Given the description of an element on the screen output the (x, y) to click on. 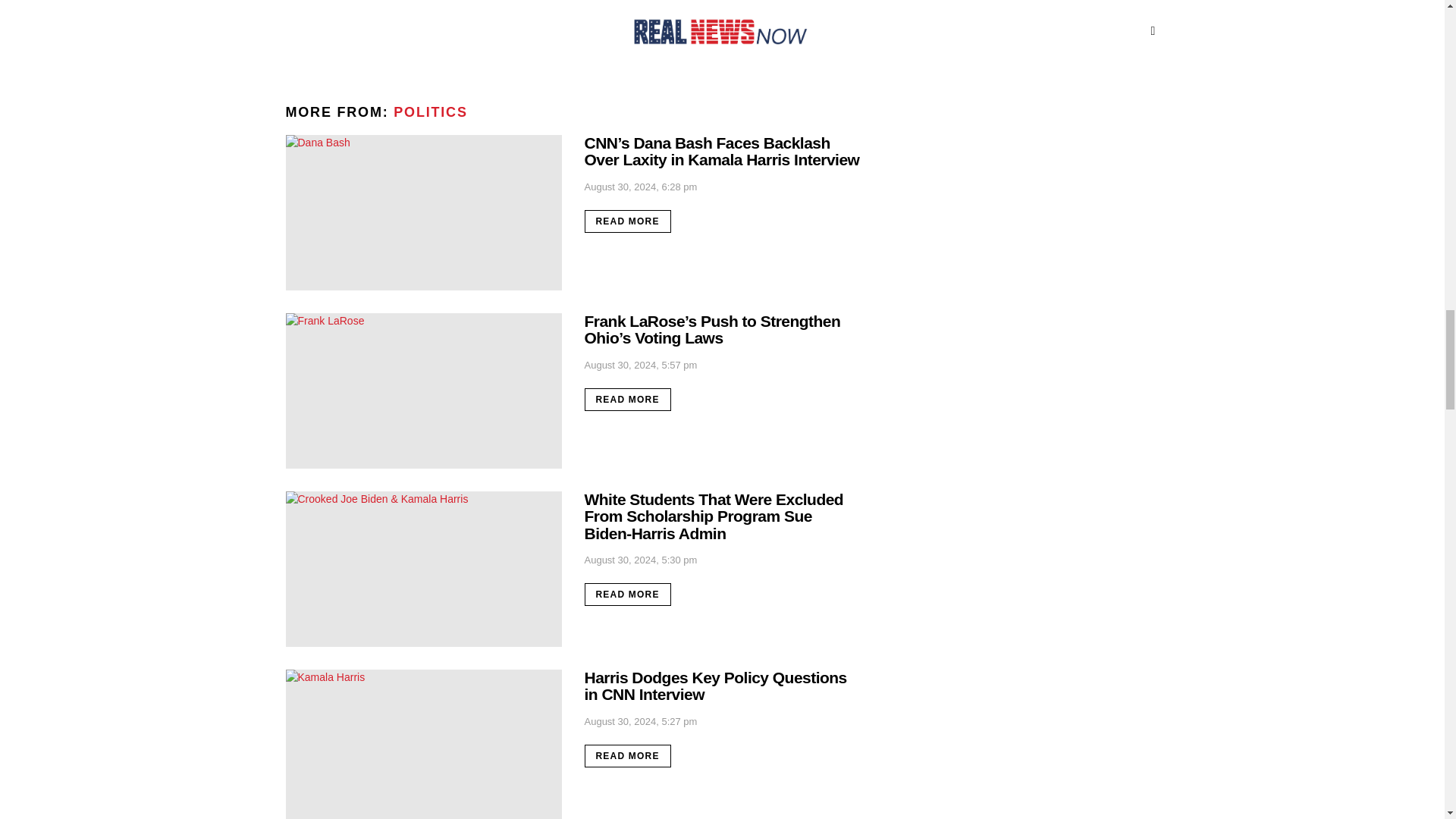
READ MORE (328, 34)
POLITICS (430, 111)
Posts by Cam Higby (322, 4)
Harris Dodges Key Policy Questions in CNN Interview (422, 744)
READ MORE (626, 755)
Harris Dodges Key Policy Questions in CNN Interview (714, 685)
Cam Higby (322, 4)
READ MORE (626, 220)
READ MORE (626, 399)
